Given the description of an element on the screen output the (x, y) to click on. 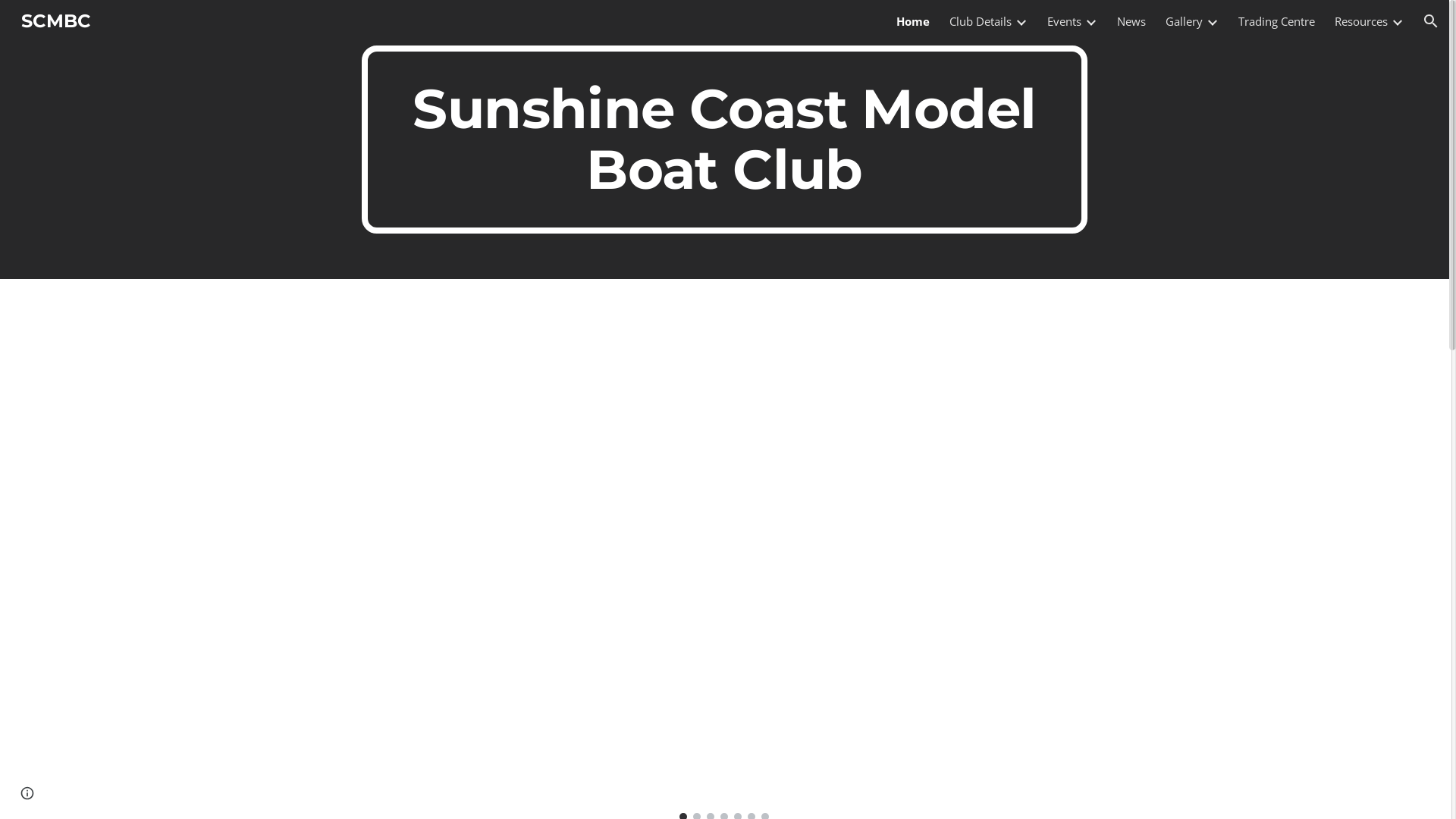
Expand/Collapse Element type: hover (1396, 20)
Home Element type: text (912, 20)
Events Element type: text (1064, 20)
Expand/Collapse Element type: hover (1211, 20)
Gallery Element type: text (1183, 20)
Expand/Collapse Element type: hover (1020, 20)
Resources Element type: text (1360, 20)
Expand/Collapse Element type: hover (1090, 20)
Club Details Element type: text (980, 20)
News Element type: text (1131, 20)
Trading Centre Element type: text (1276, 20)
SCMBC Element type: text (56, 19)
